Given the description of an element on the screen output the (x, y) to click on. 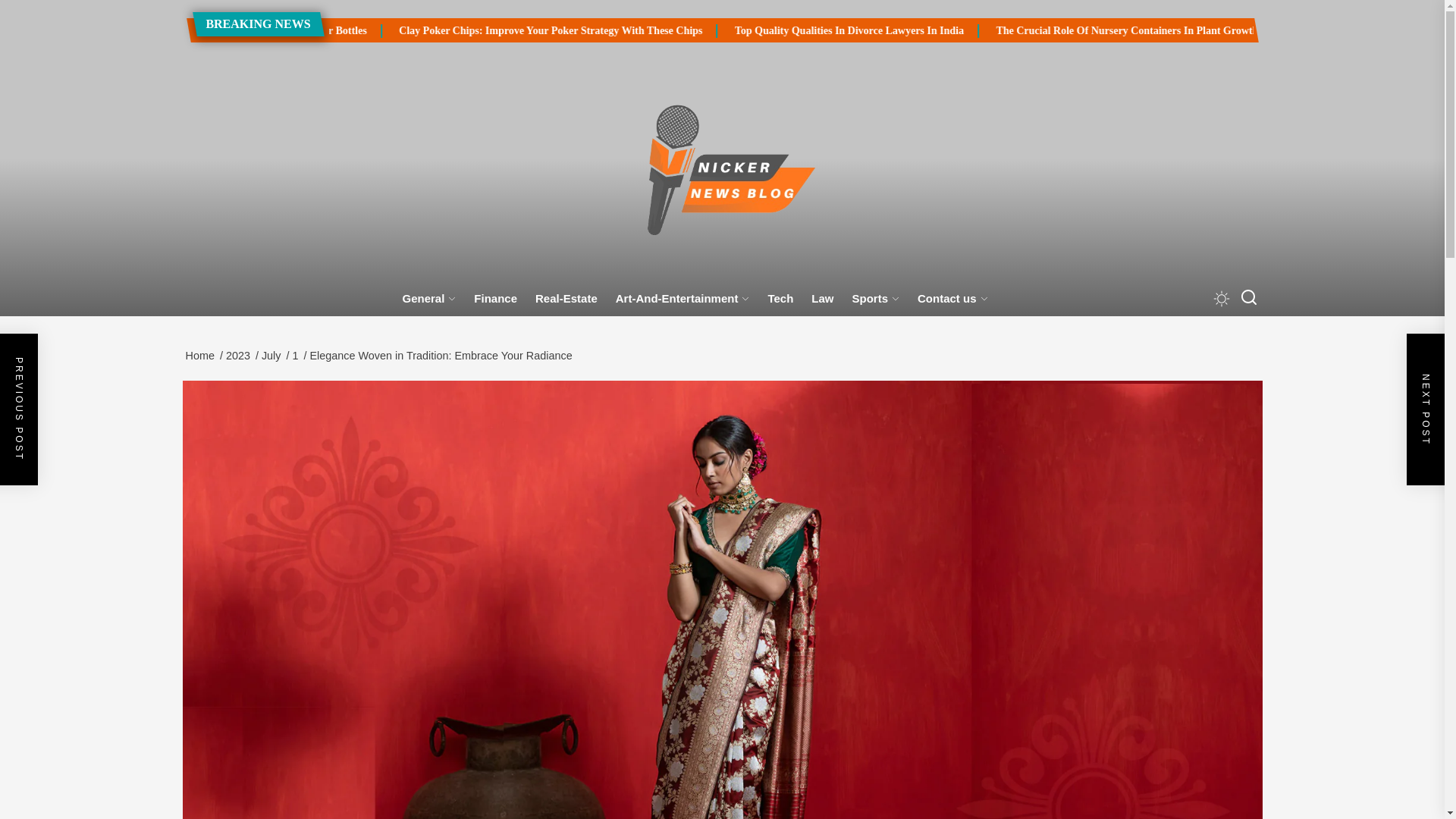
Top Quality Qualities In Divorce Lawyers In India (1059, 30)
NICKER NEWS BLOG (657, 313)
Top Quality Qualities In Divorce Lawyers In India (973, 30)
The Crucial Role Of Nursery Containers In Plant Growth (1248, 30)
Tech (780, 298)
Art-And-Entertainment (682, 298)
Finance (494, 298)
Law (822, 298)
Real-Estate (566, 298)
Sports (875, 298)
General (428, 298)
